Given the description of an element on the screen output the (x, y) to click on. 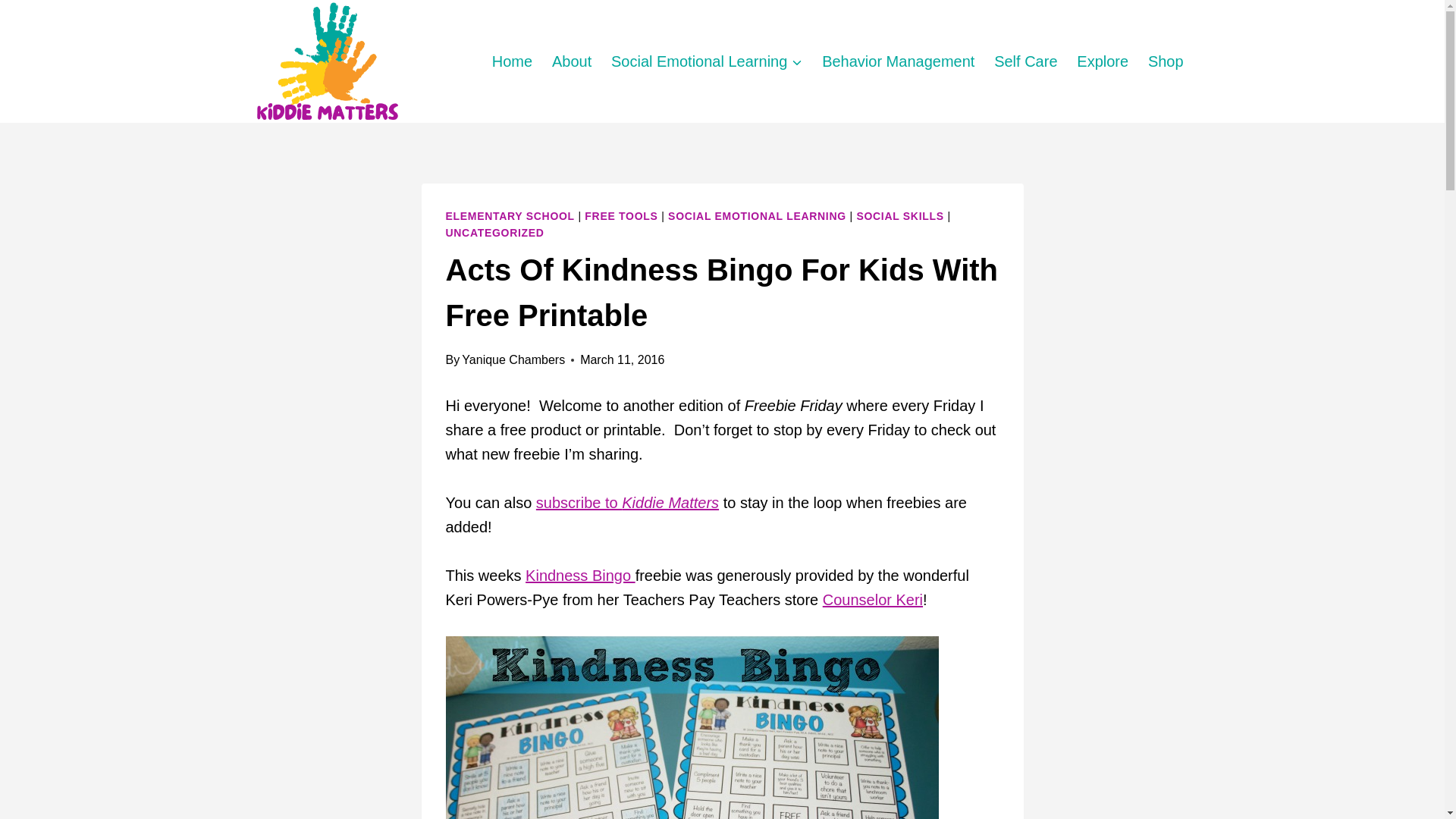
UNCATEGORIZED (494, 232)
FREE TOOLS (621, 215)
Yanique Chambers (512, 359)
Social Emotional Learning (706, 61)
subscribe to Kiddie Matters (627, 502)
Shop (1165, 61)
Kindness Bingo (579, 575)
Counselor Keri (872, 599)
ELEMENTARY SCHOOL (510, 215)
SOCIAL EMOTIONAL LEARNING (756, 215)
Home (511, 61)
Self Care (1025, 61)
SOCIAL SKILLS (899, 215)
Explore (1102, 61)
Behavior Management (898, 61)
